Given the description of an element on the screen output the (x, y) to click on. 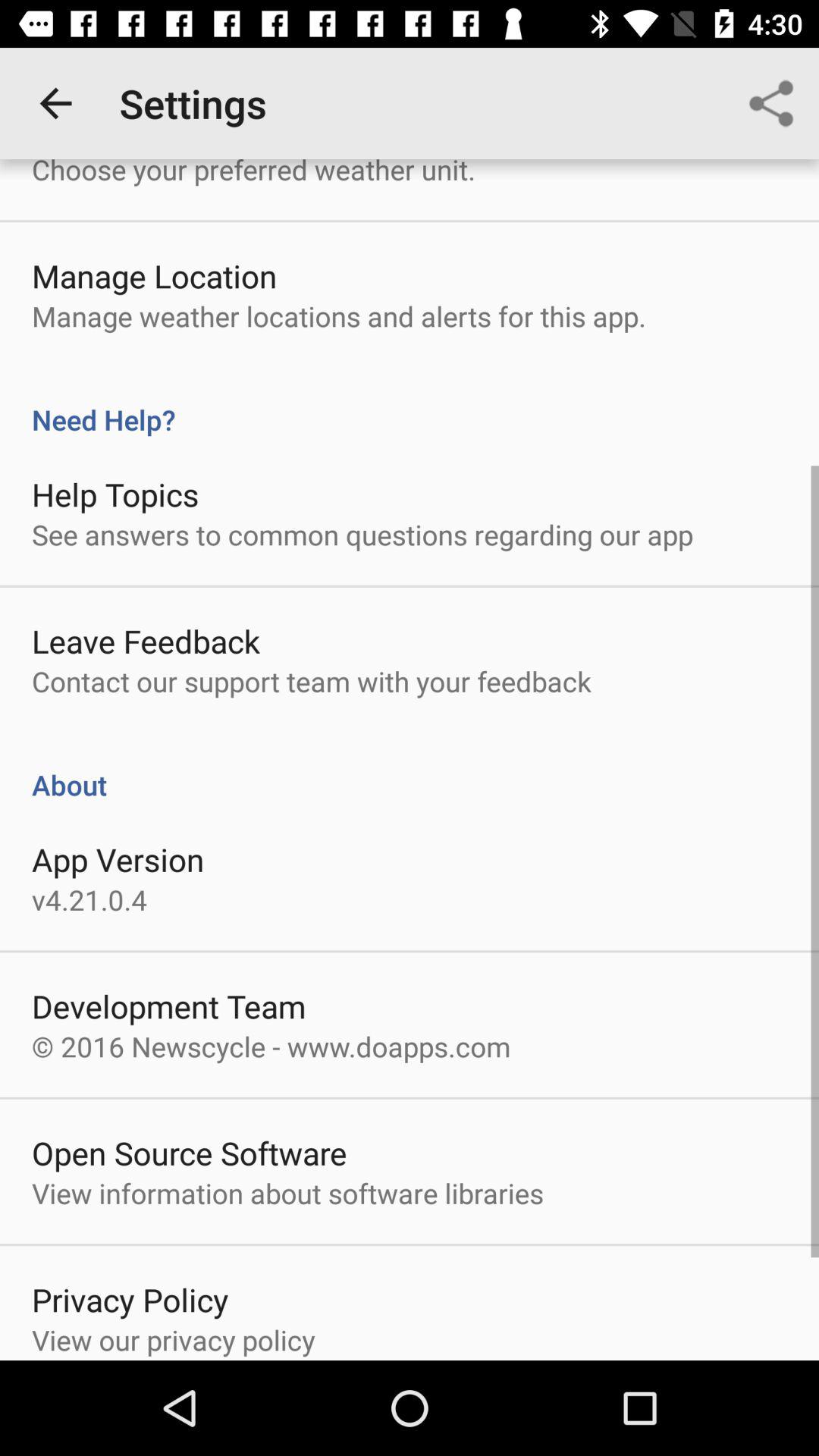
turn off the icon above the privacy policy (287, 1193)
